Given the description of an element on the screen output the (x, y) to click on. 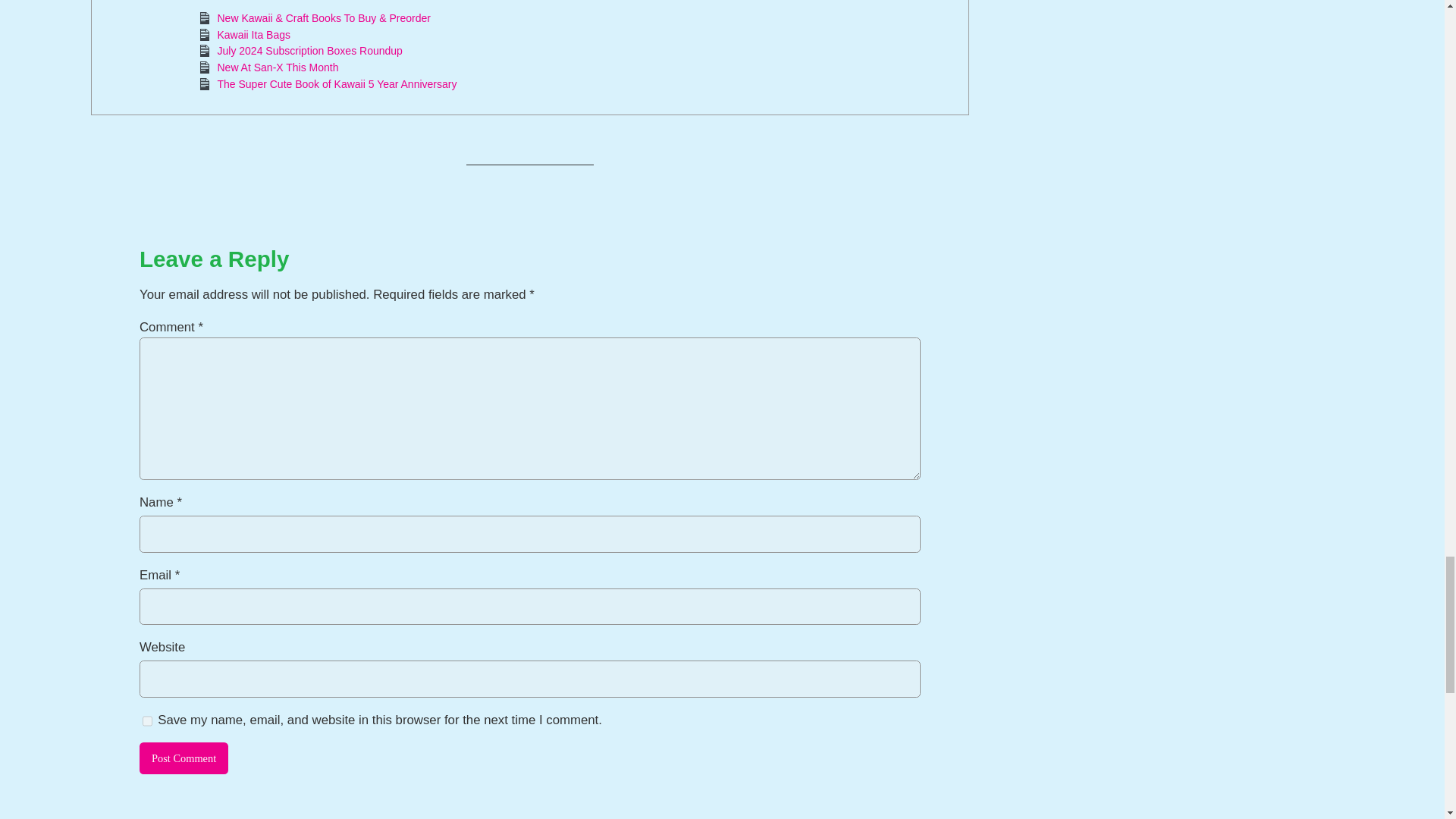
July 2024 Subscription Boxes Roundup (308, 50)
The Super Cute Book of Kawaii 5 Year Anniversary (336, 83)
Kawaii Ita Bags (252, 34)
New At San-X This Month (276, 67)
Post Comment (183, 757)
